Given the description of an element on the screen output the (x, y) to click on. 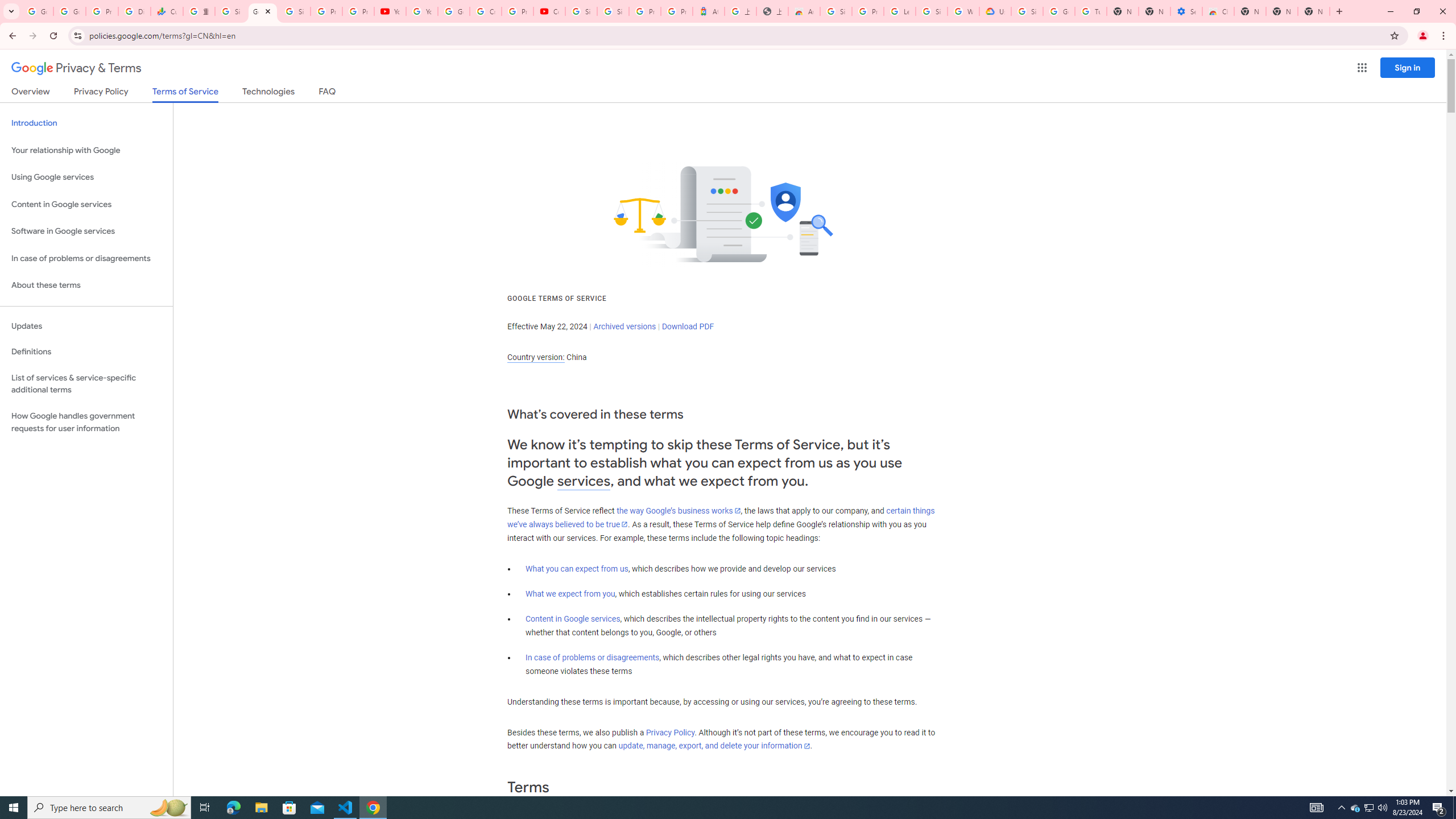
YouTube (421, 11)
Your relationship with Google (86, 150)
New Tab (1249, 11)
Privacy Checkup (358, 11)
